Given the description of an element on the screen output the (x, y) to click on. 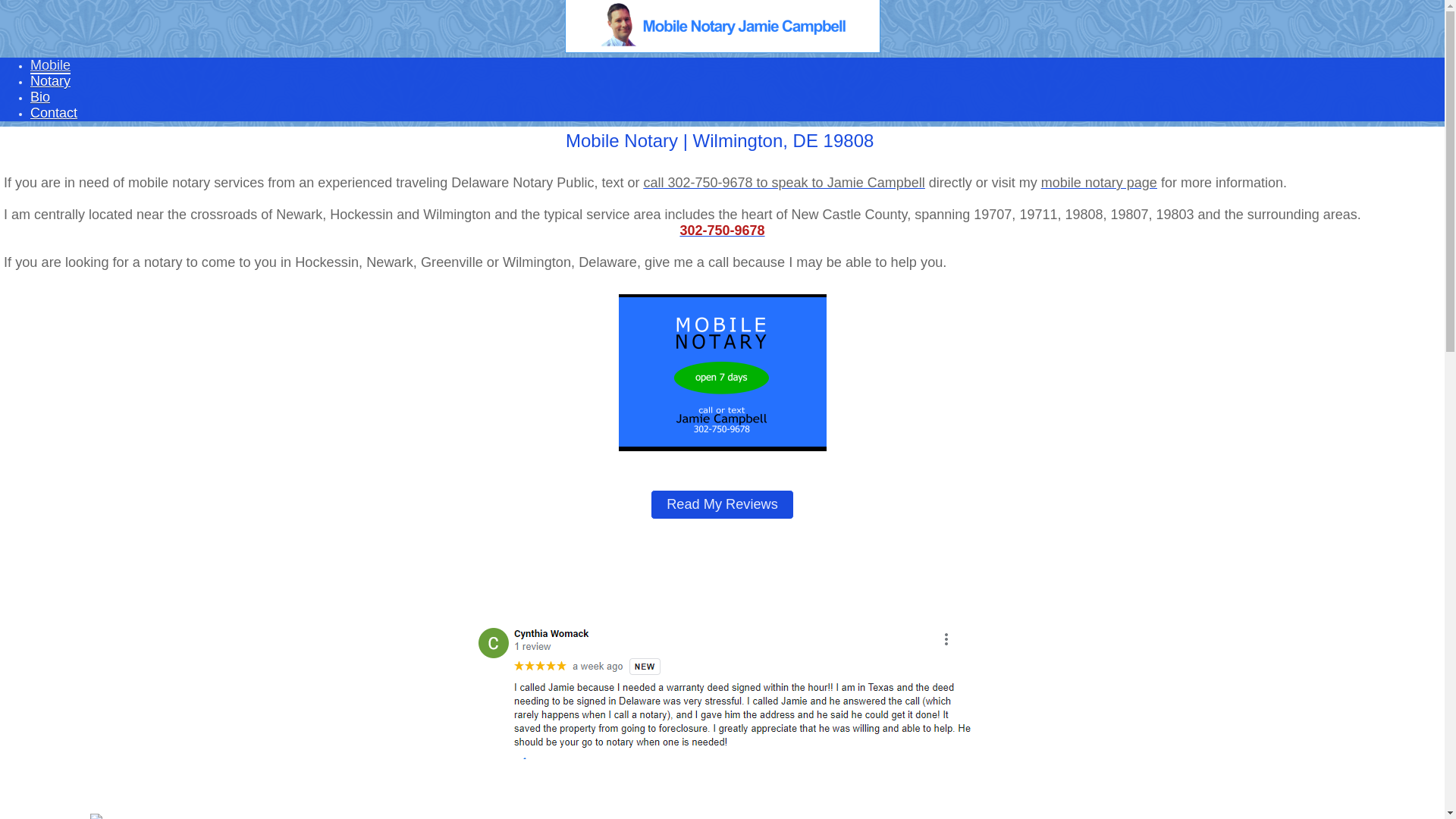
Notary Element type: text (50, 80)
302-750-9678 Element type: text (721, 230)
Bio Element type: text (40, 96)
call 302-750-9678 to speak to Jamie Campbell Element type: text (783, 182)
Mobile Element type: text (50, 65)
Read My Reviews Element type: text (721, 504)
mobile notary page Element type: text (1099, 182)
Contact Element type: text (53, 112)
